Given the description of an element on the screen output the (x, y) to click on. 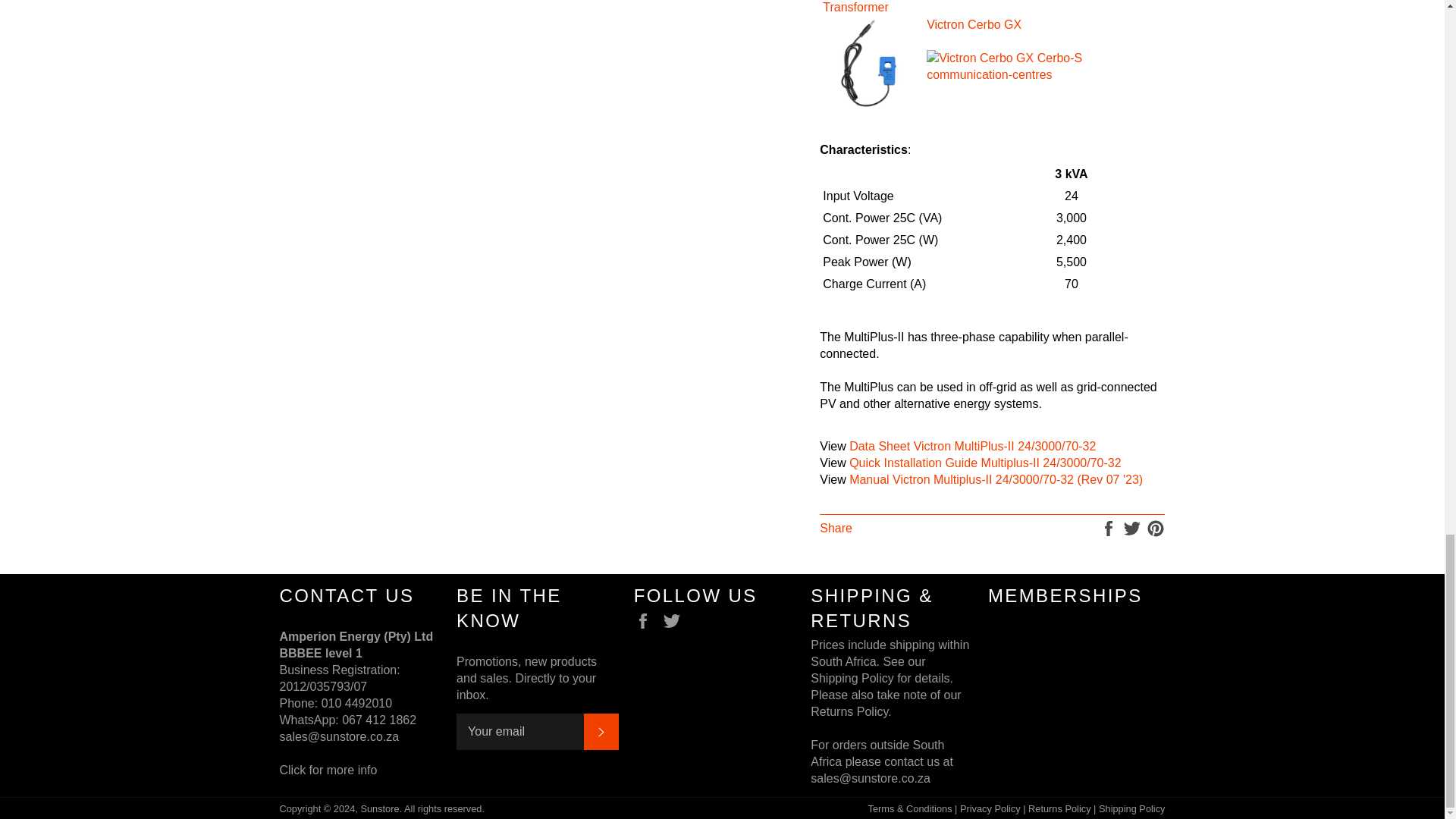
SunStore South Africa on Twitter (675, 620)
Victron Cerbo GX Cerbo-S GX communication-centres (974, 24)
Victron Multiplus II 48V data sheet Hybrid Inverter Charger (972, 445)
Pin on Pinterest (1155, 527)
Victron Cerbo GX Cerbo-S communication-centres (1043, 74)
Share on Facebook (1110, 527)
Tweet on Twitter (1133, 527)
Current Transformer (855, 6)
SunStore South Africa on Facebook (646, 620)
Victron Multiplus II 48V manual (995, 479)
Quick Installation Guide Victron MultiPlus II (984, 462)
